Given the description of an element on the screen output the (x, y) to click on. 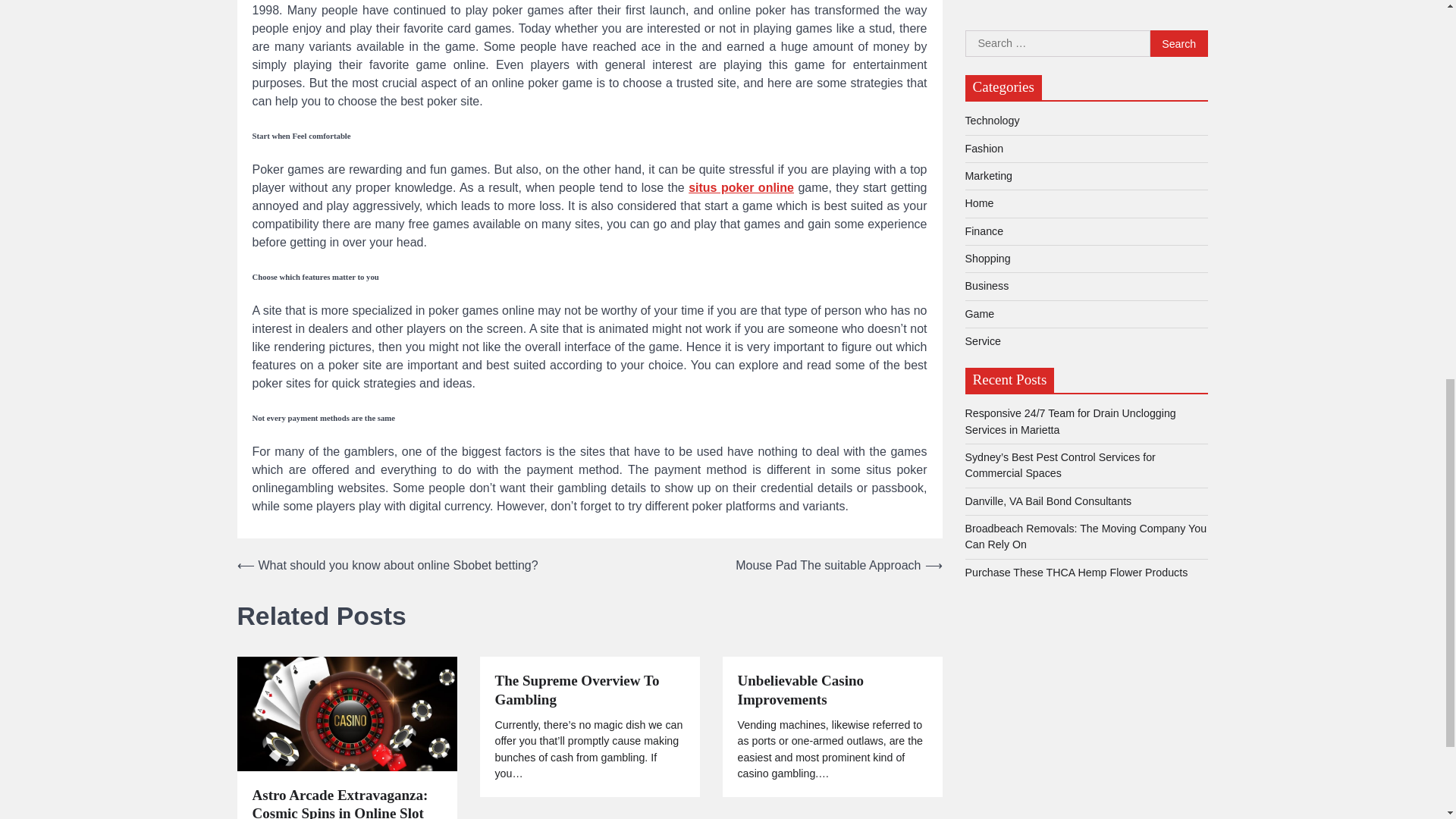
Unbelievable Casino Improvements (831, 690)
Astro Arcade Extravaganza: Cosmic Spins in Online Slot Games (346, 802)
The Supreme Overview To Gambling (589, 690)
situs poker online (740, 187)
